Given the description of an element on the screen output the (x, y) to click on. 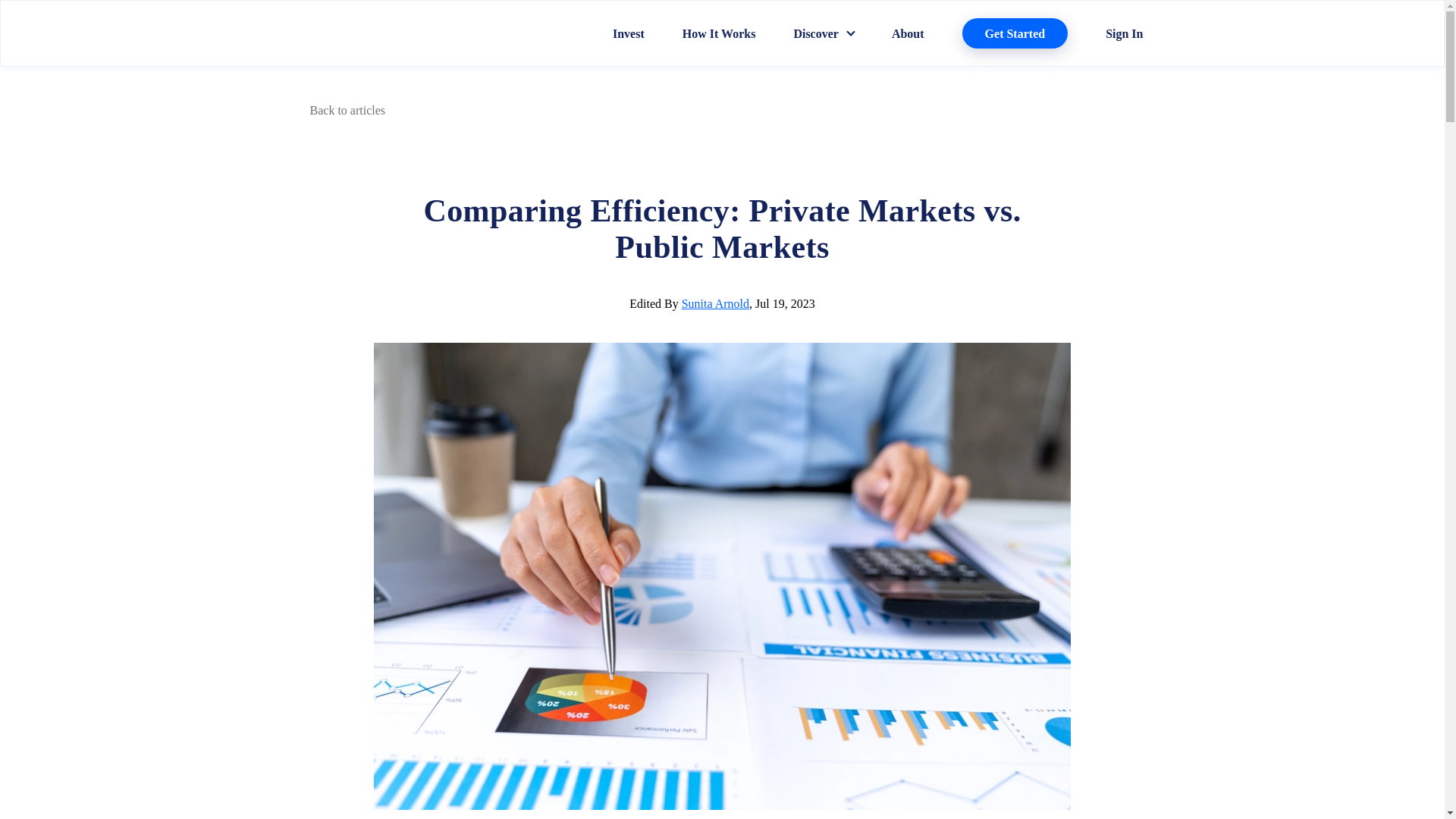
Sunita Arnold (715, 303)
Back to articles (343, 110)
Get Started (1015, 33)
How It Works (718, 33)
